Given the description of an element on the screen output the (x, y) to click on. 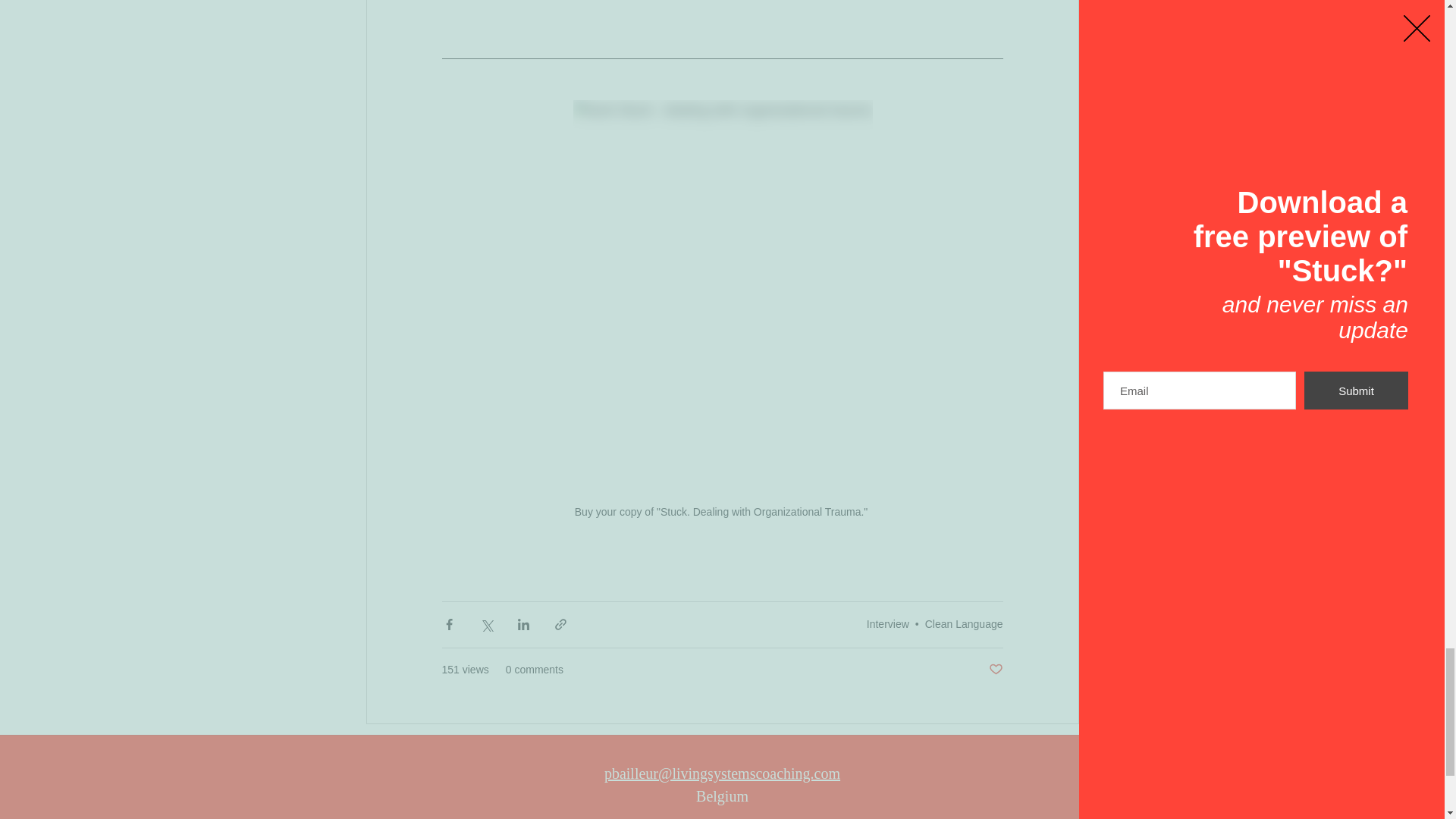
Post not marked as liked (995, 669)
0 comments (534, 669)
Interview (887, 623)
Clean Language (963, 623)
